Given the description of an element on the screen output the (x, y) to click on. 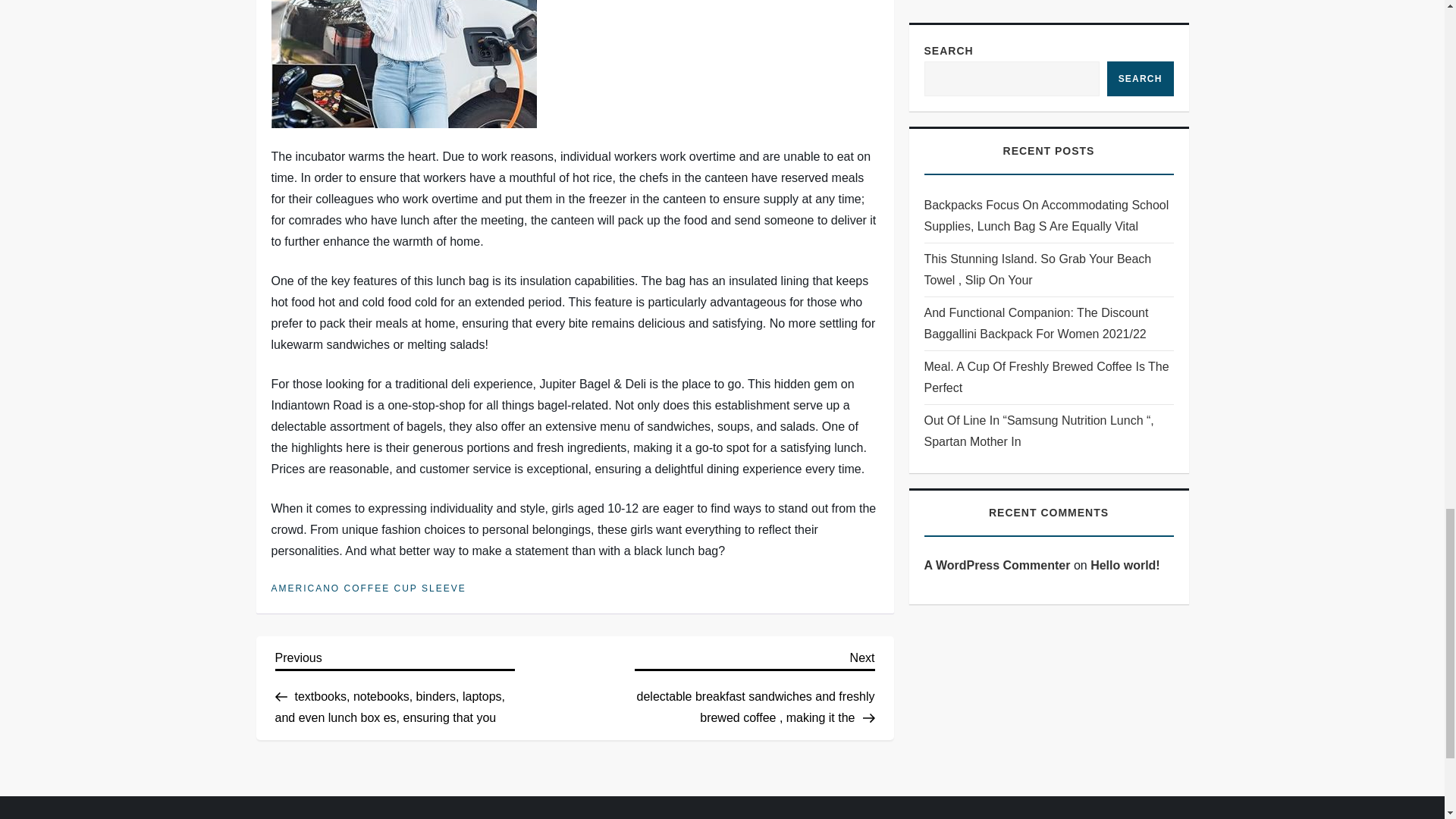
AMERICANO COFFEE CUP SLEEVE (367, 589)
